Given the description of an element on the screen output the (x, y) to click on. 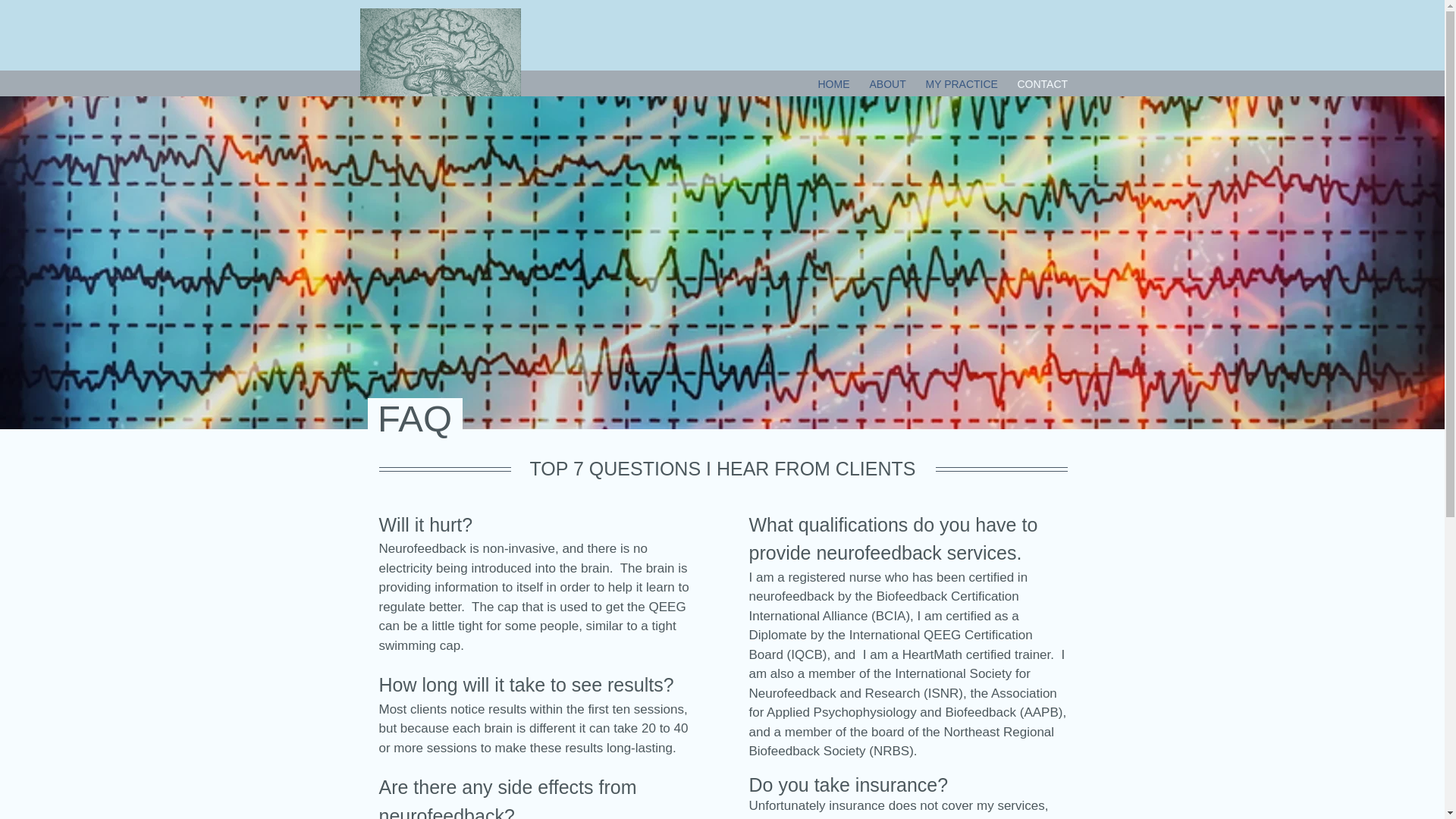
ABOUT (887, 83)
CONTACT (1042, 83)
HOME (834, 83)
MY PRACTICE (961, 83)
